Given the description of an element on the screen output the (x, y) to click on. 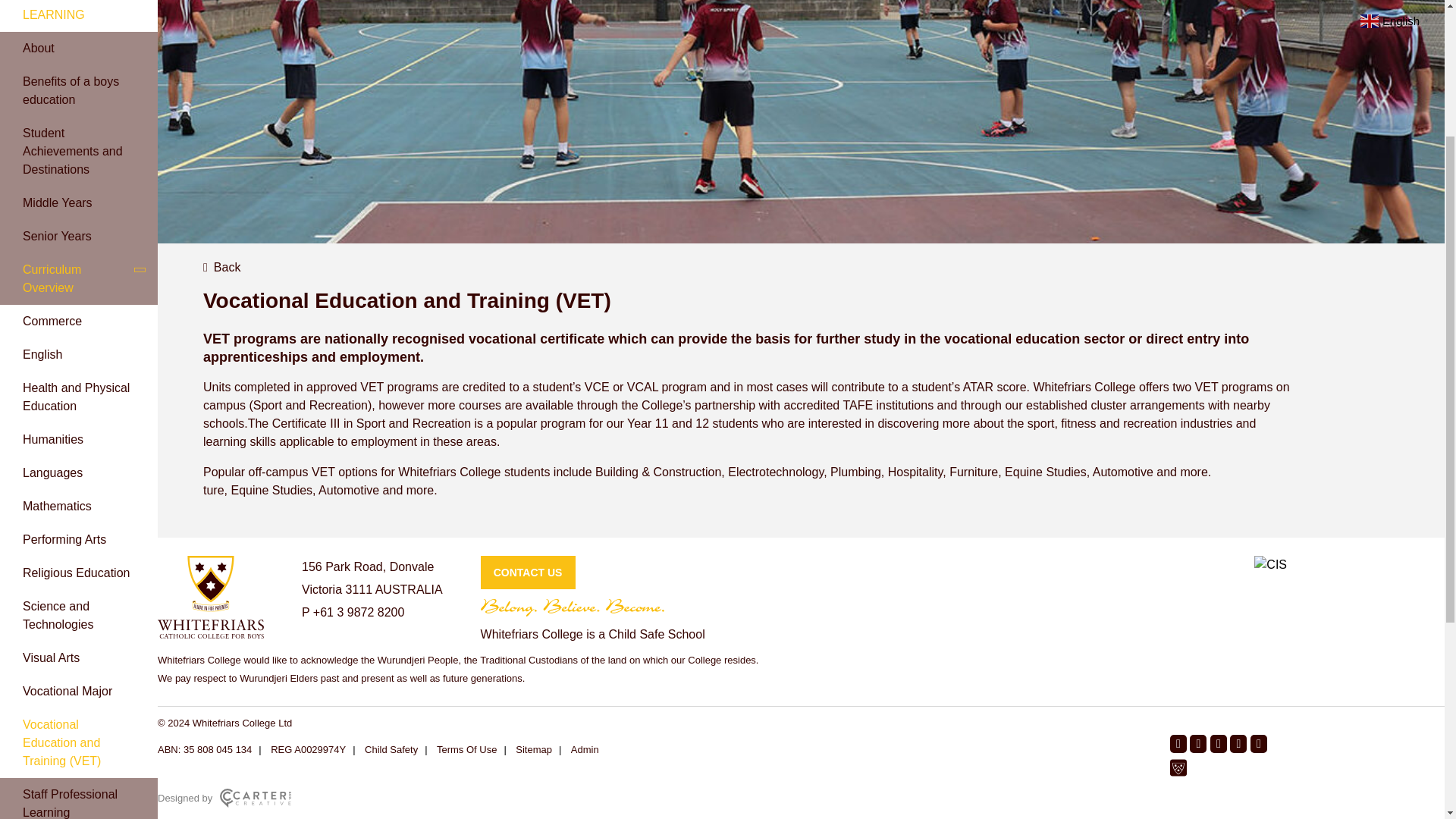
Science and Technologies (58, 614)
Middle Years (78, 203)
Curriculum Overview (78, 278)
Student Achievements and Destinations (78, 151)
Commerce (52, 320)
Senior Years (78, 236)
Vocational Major (67, 690)
Health and Physical Education (76, 396)
Languages (52, 472)
LEARNING (78, 14)
About (78, 48)
Religious Education (76, 572)
Performing Arts (64, 539)
English (42, 354)
Mathematics (57, 505)
